Given the description of an element on the screen output the (x, y) to click on. 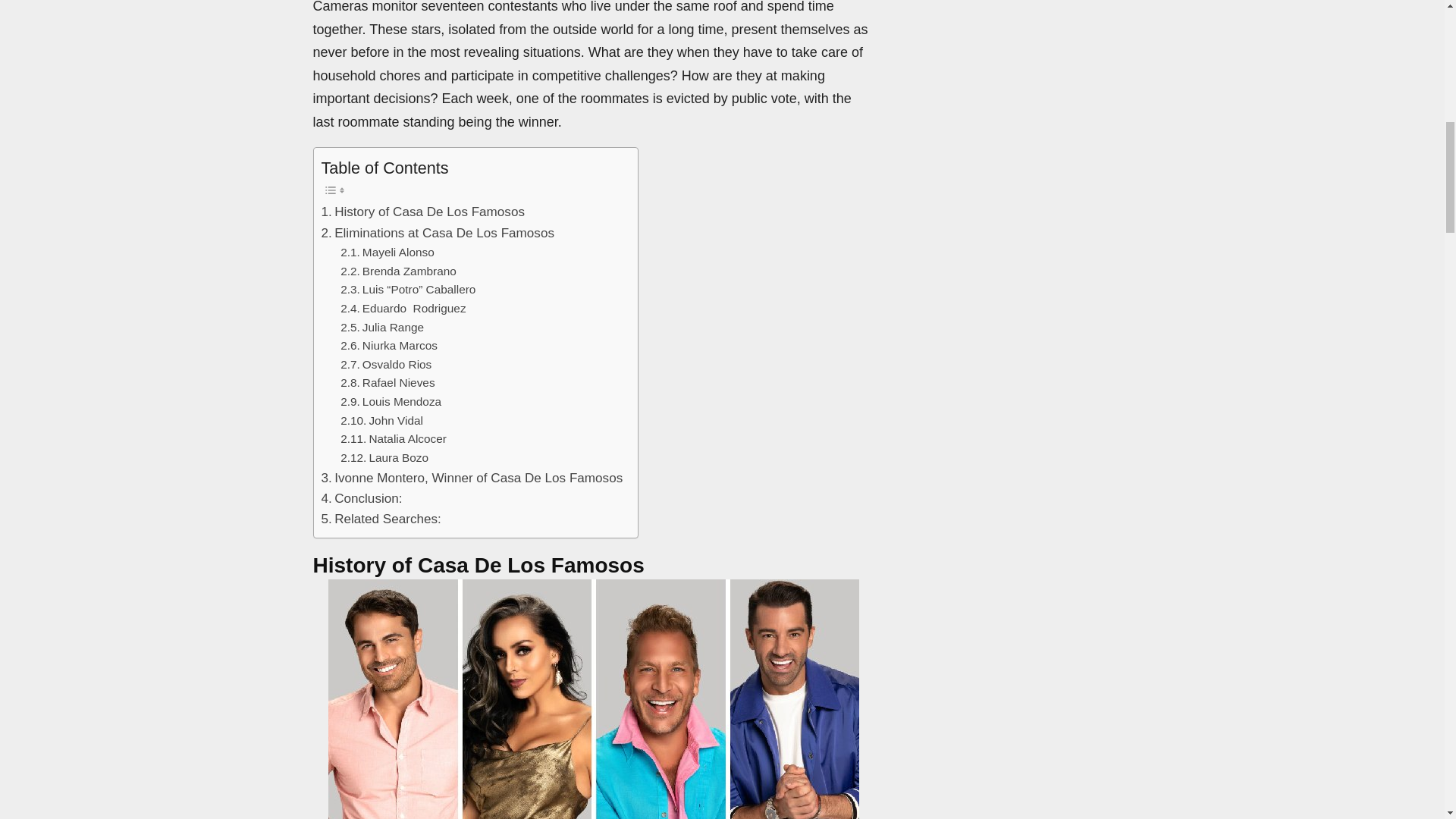
History of Casa De Los Famosos (422, 211)
Osvaldo Rios (385, 364)
Niurka Marcos (389, 345)
Brenda Zambrano (398, 271)
Julia Range (381, 327)
Brenda Zambrano (398, 271)
Julia Range (381, 327)
Osvaldo Rios (385, 364)
Rafael Nieves (386, 383)
Niurka Marcos (389, 345)
